Given the description of an element on the screen output the (x, y) to click on. 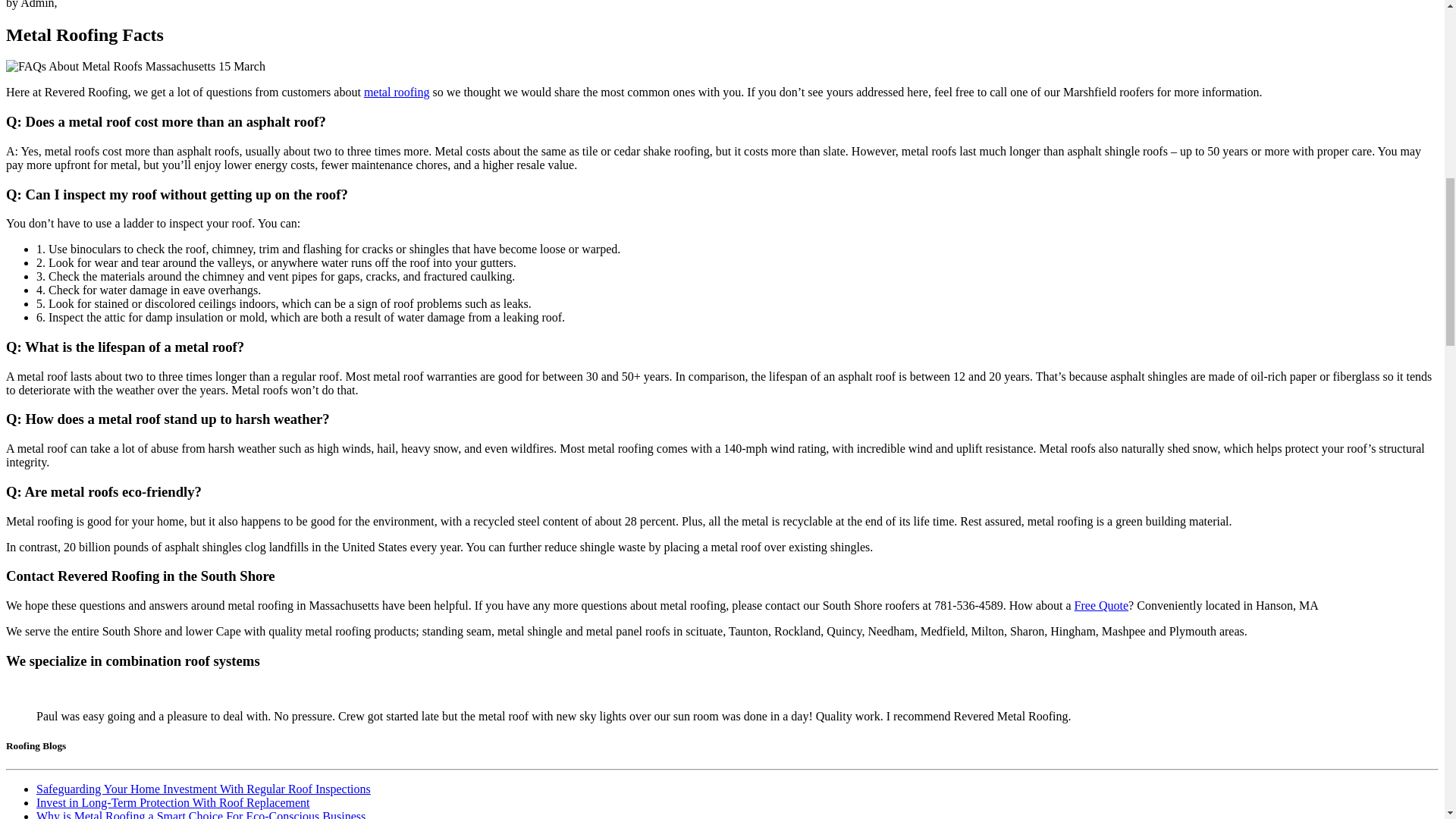
Admin (36, 4)
